Given the description of an element on the screen output the (x, y) to click on. 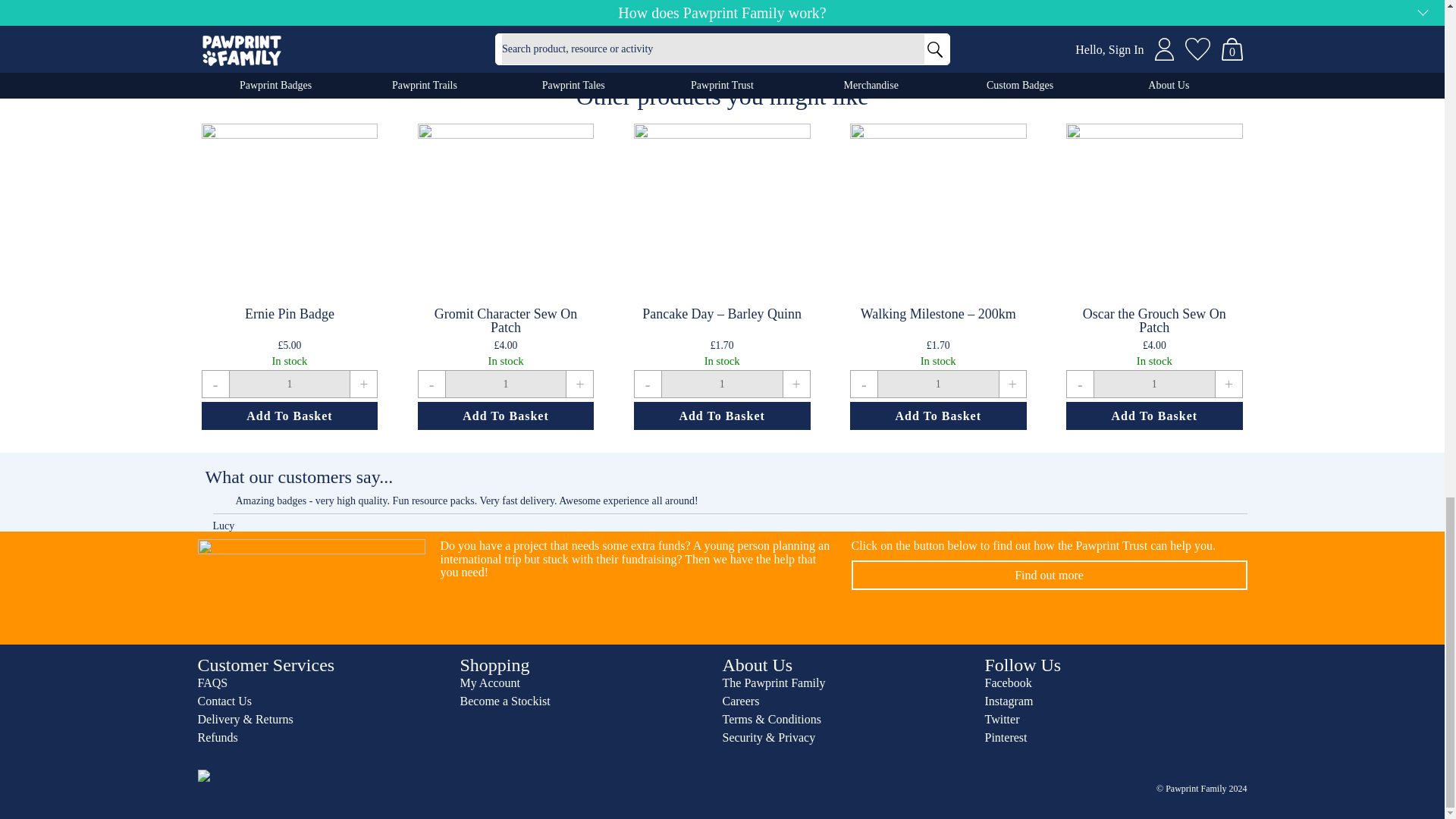
1 (505, 384)
Qty (1154, 384)
1 (288, 384)
1 (937, 384)
1 (1154, 384)
Qty (722, 384)
1 (722, 384)
Qty (288, 384)
Qty (937, 384)
Qty (505, 384)
